Given the description of an element on the screen output the (x, y) to click on. 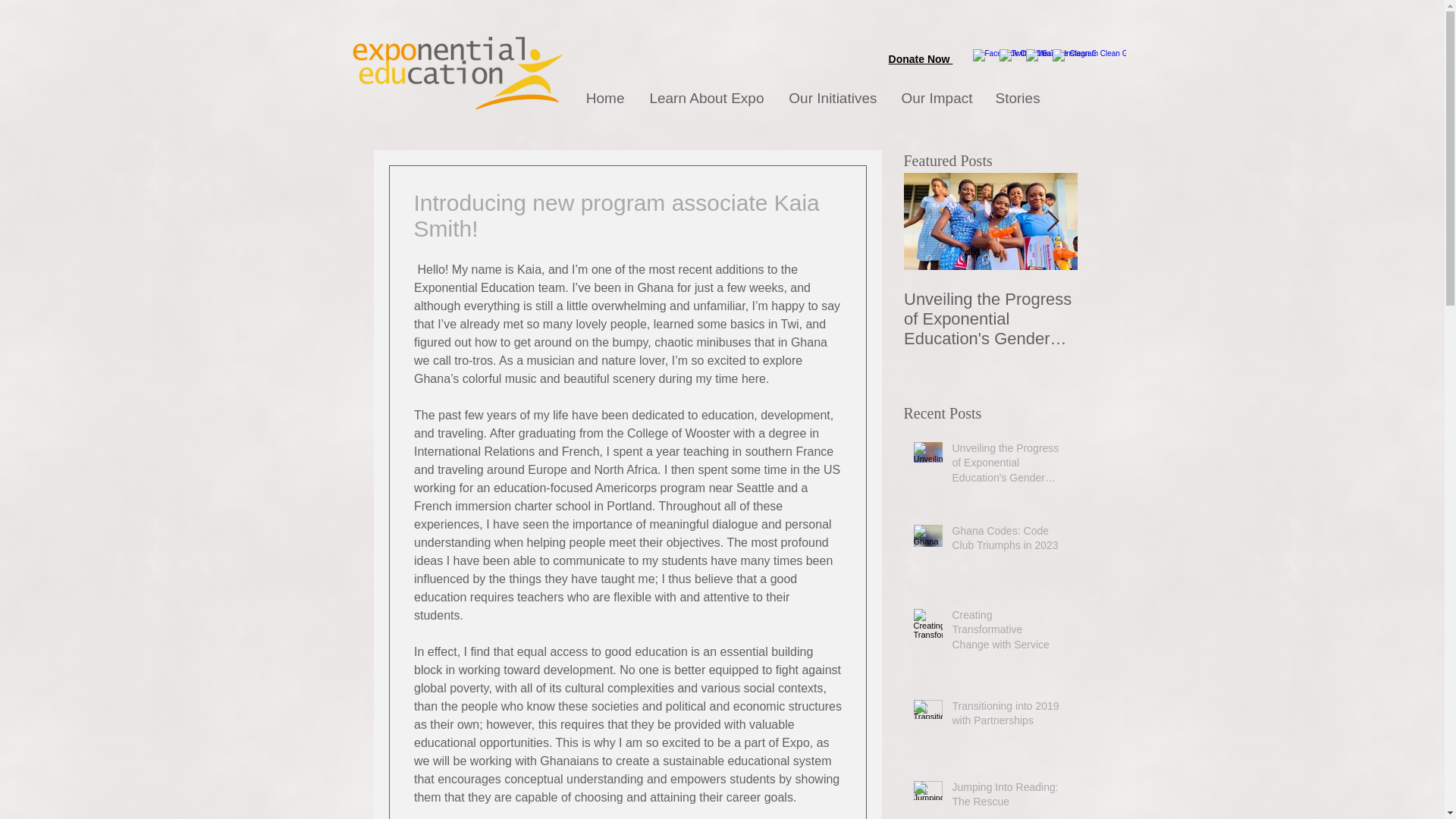
Creating Transformative Change with Service (1006, 633)
Ghana Codes: Code Club Triumphs in 2023 (1006, 541)
Ghana Codes: Code Club Triumphs in 2023 (1163, 309)
logo.png (458, 71)
Donate Now  (920, 59)
Jumping Into Reading: The Rescue (1006, 797)
Transitioning into 2019 with Partnerships (1006, 716)
Home (603, 98)
